Given the description of an element on the screen output the (x, y) to click on. 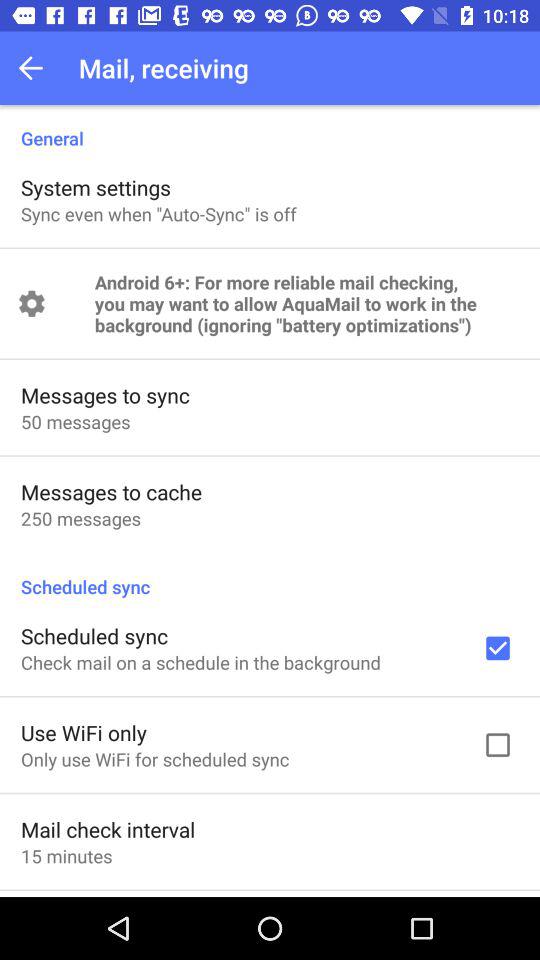
tap the item next to android 6 for item (31, 303)
